Given the description of an element on the screen output the (x, y) to click on. 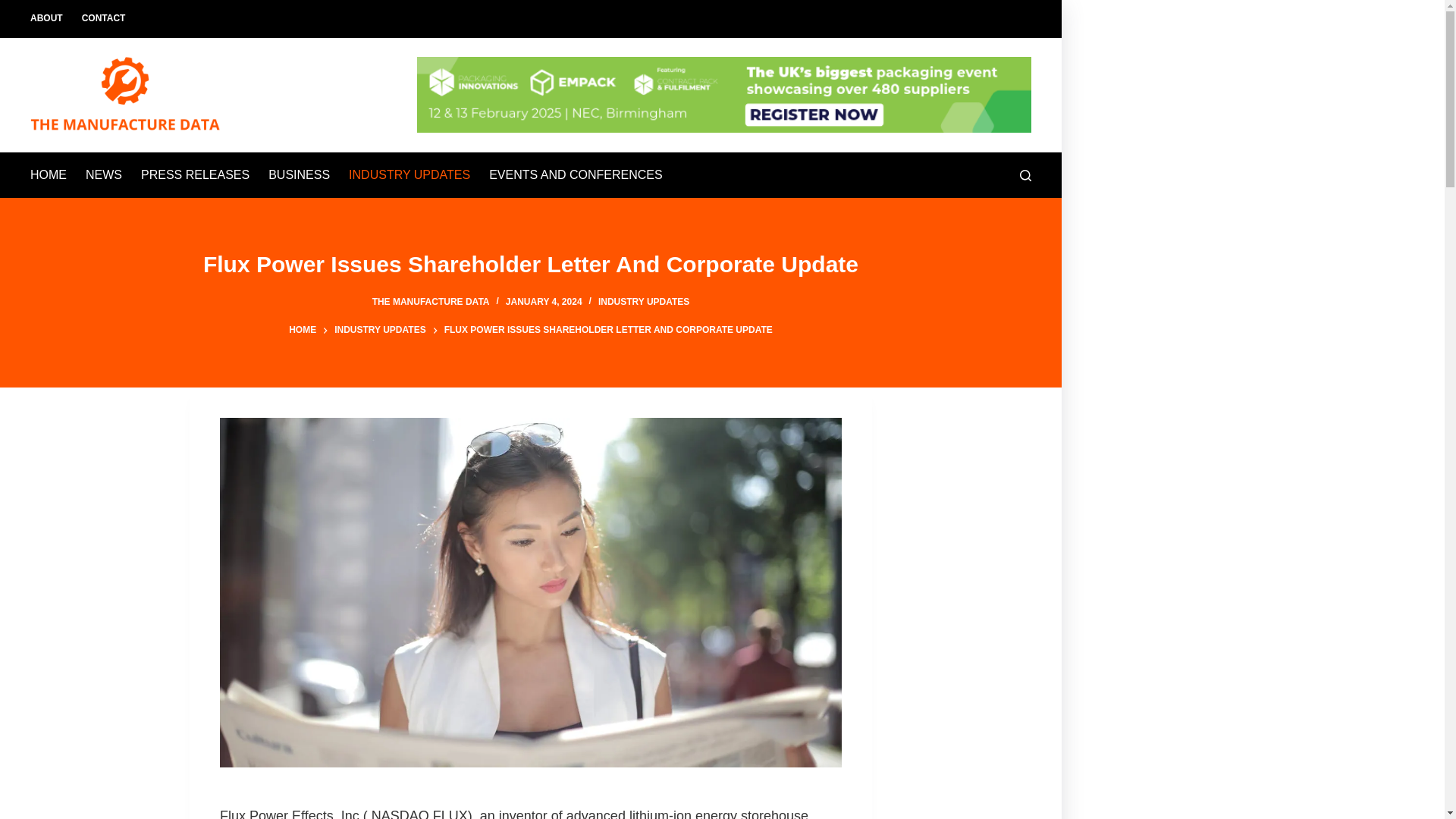
PRESS RELEASES (195, 175)
HOME (53, 175)
BUSINESS (299, 175)
HOME (301, 330)
Posts by The Manufacture Data (430, 301)
CONTACT (103, 18)
Flux Power Issues Shareholder Letter and Corporate Update (530, 264)
EVENTS AND CONFERENCES (575, 175)
INDUSTRY UPDATES (379, 330)
INDUSTRY UPDATES (409, 175)
